Given the description of an element on the screen output the (x, y) to click on. 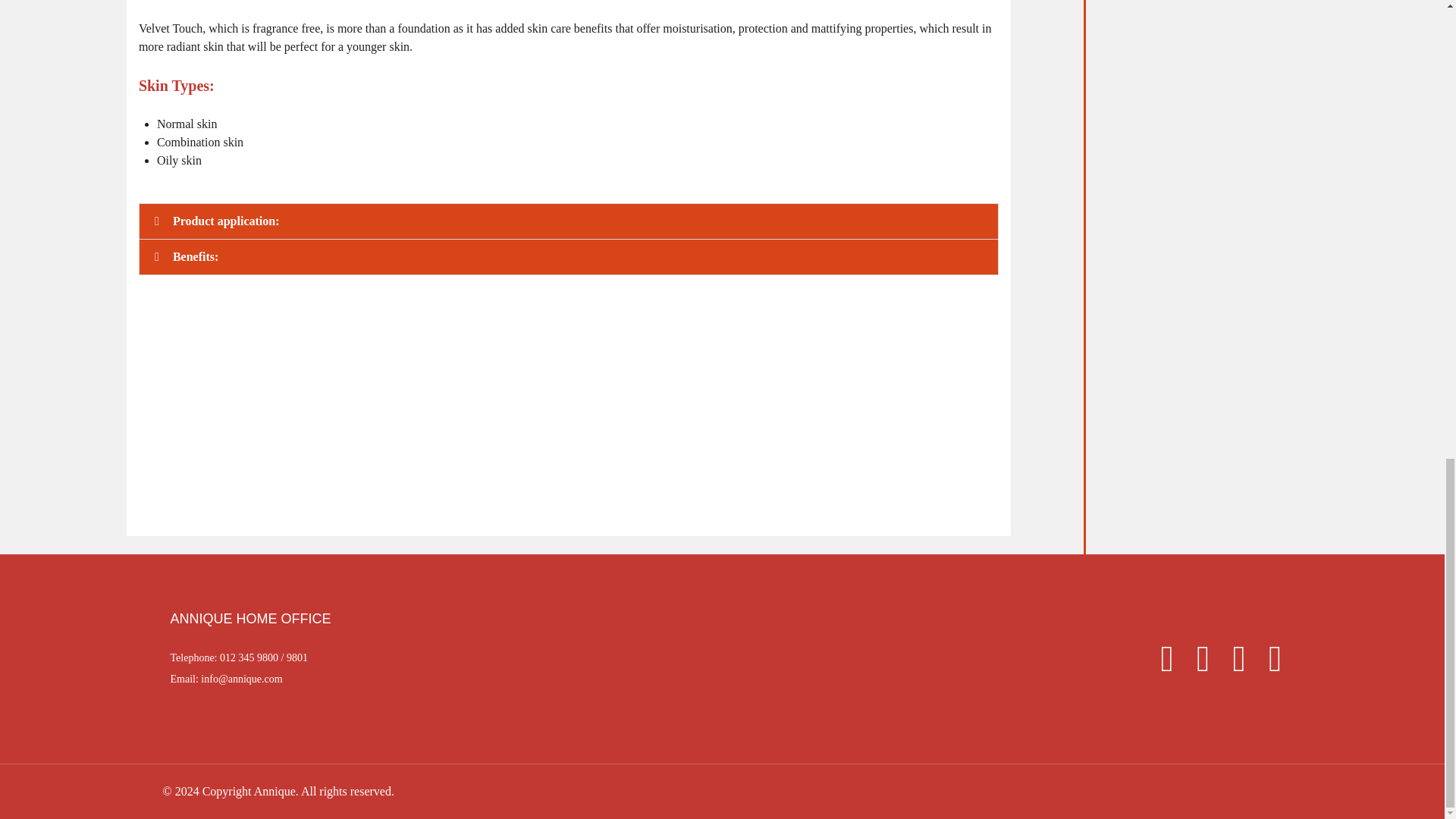
Twitter (1195, 664)
Pinterest (1266, 664)
Instagram (1232, 664)
Facebook (1159, 664)
